Given the description of an element on the screen output the (x, y) to click on. 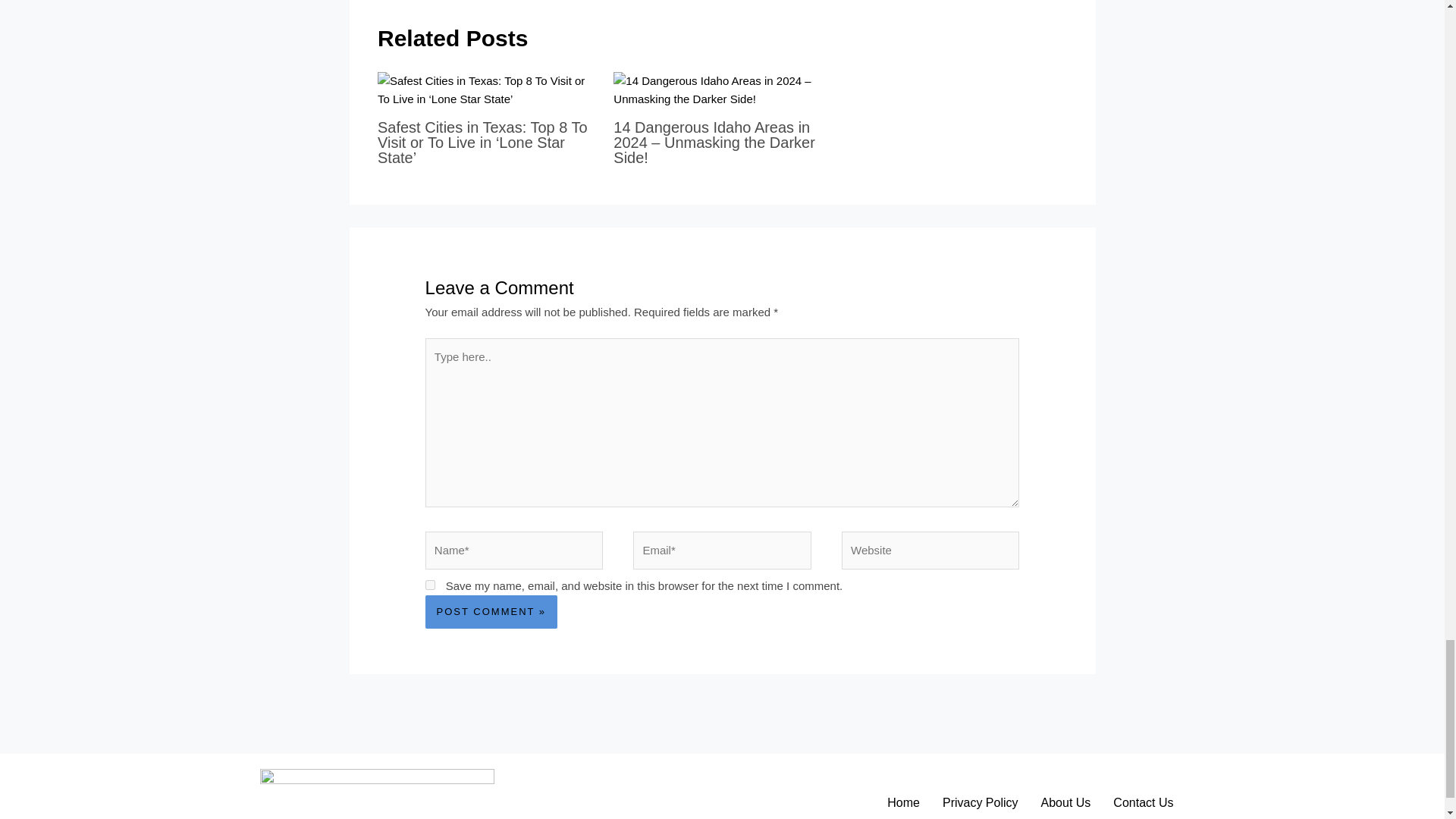
yes (430, 584)
